Given the description of an element on the screen output the (x, y) to click on. 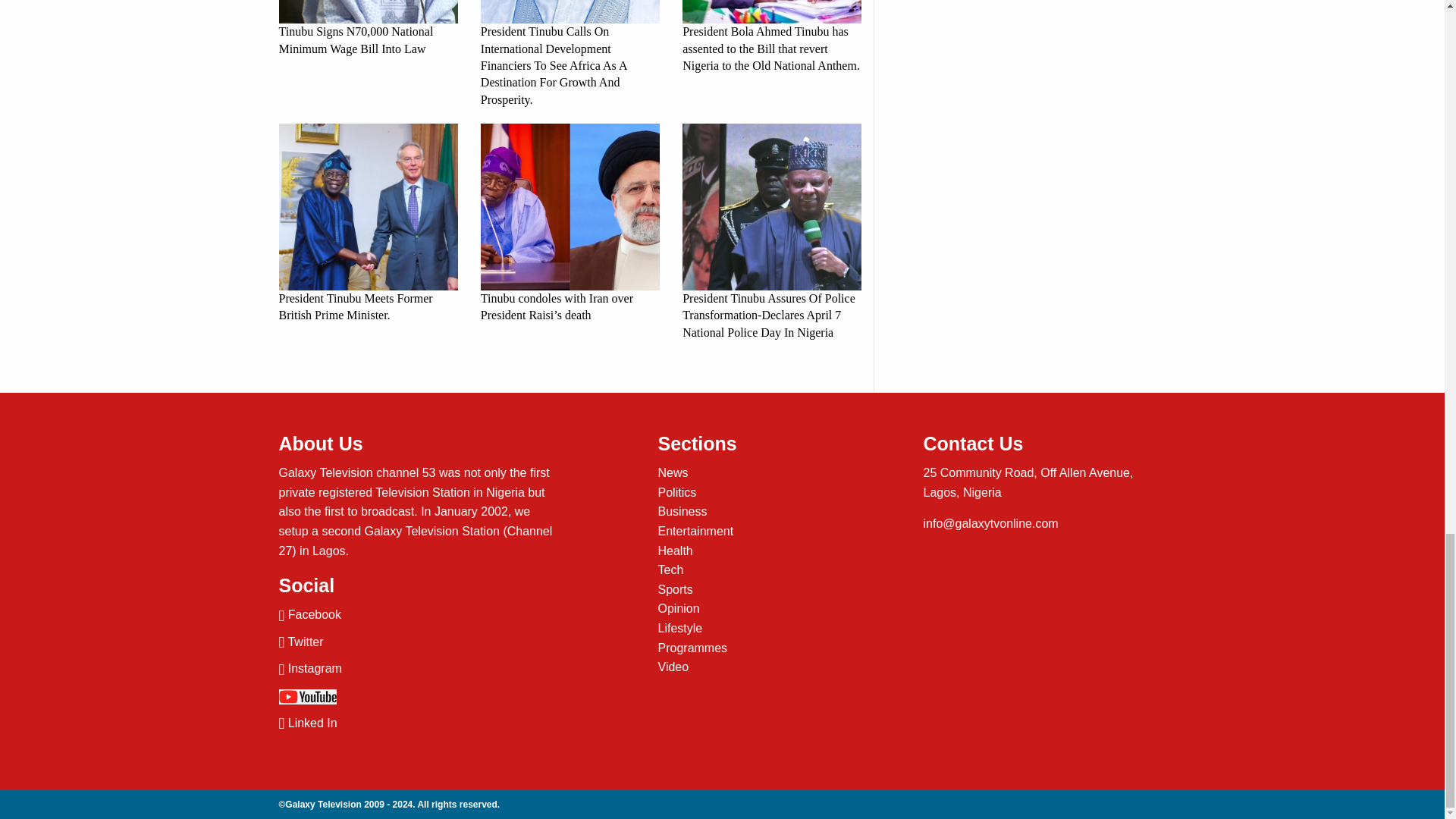
Tinubu Signs N70,000 National Minimum Wage Bill Into Law (368, 28)
President Tinubu Meets Former British Prime Minister. (368, 223)
